Given the description of an element on the screen output the (x, y) to click on. 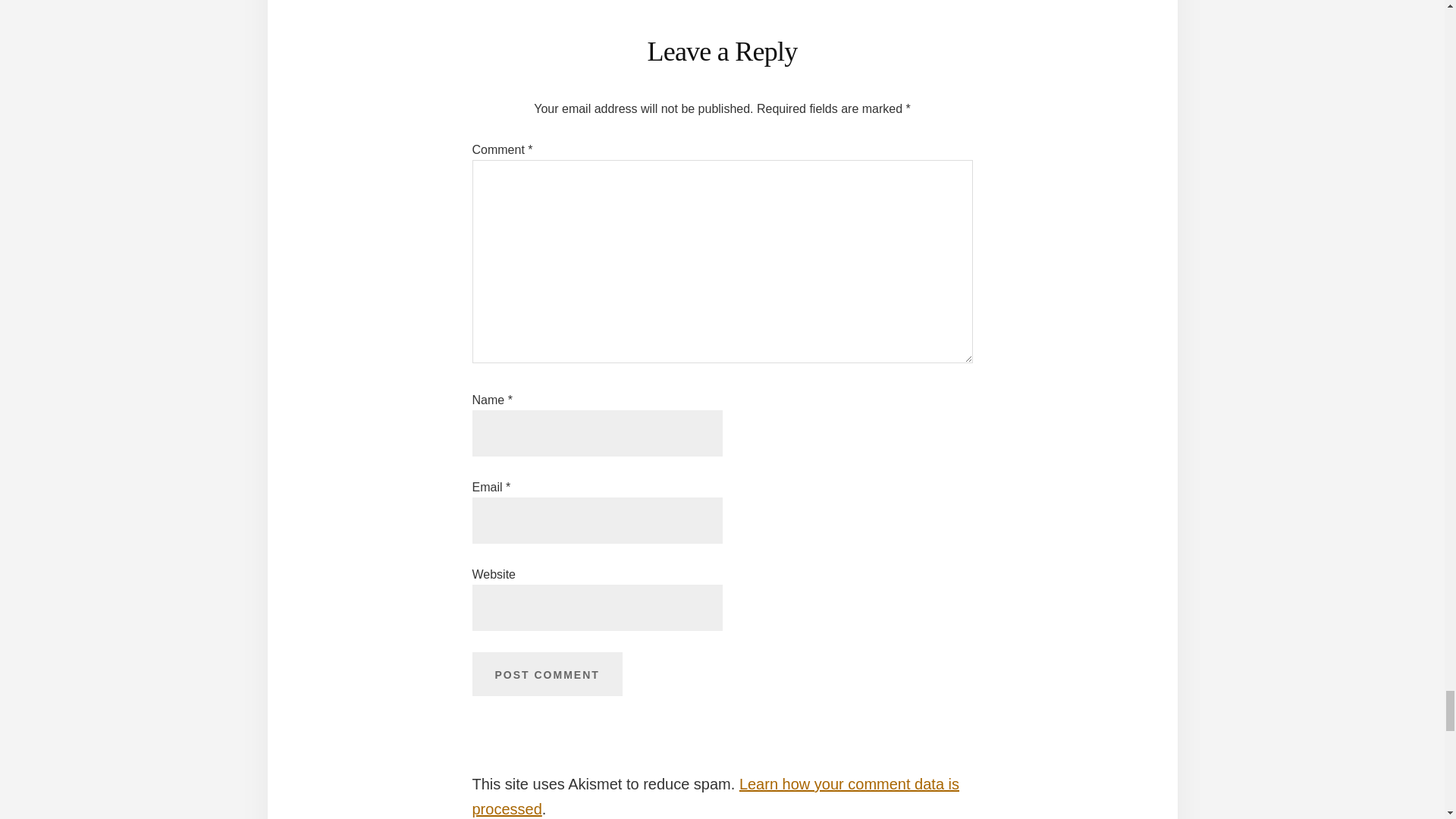
Post Comment (546, 673)
